Given the description of an element on the screen output the (x, y) to click on. 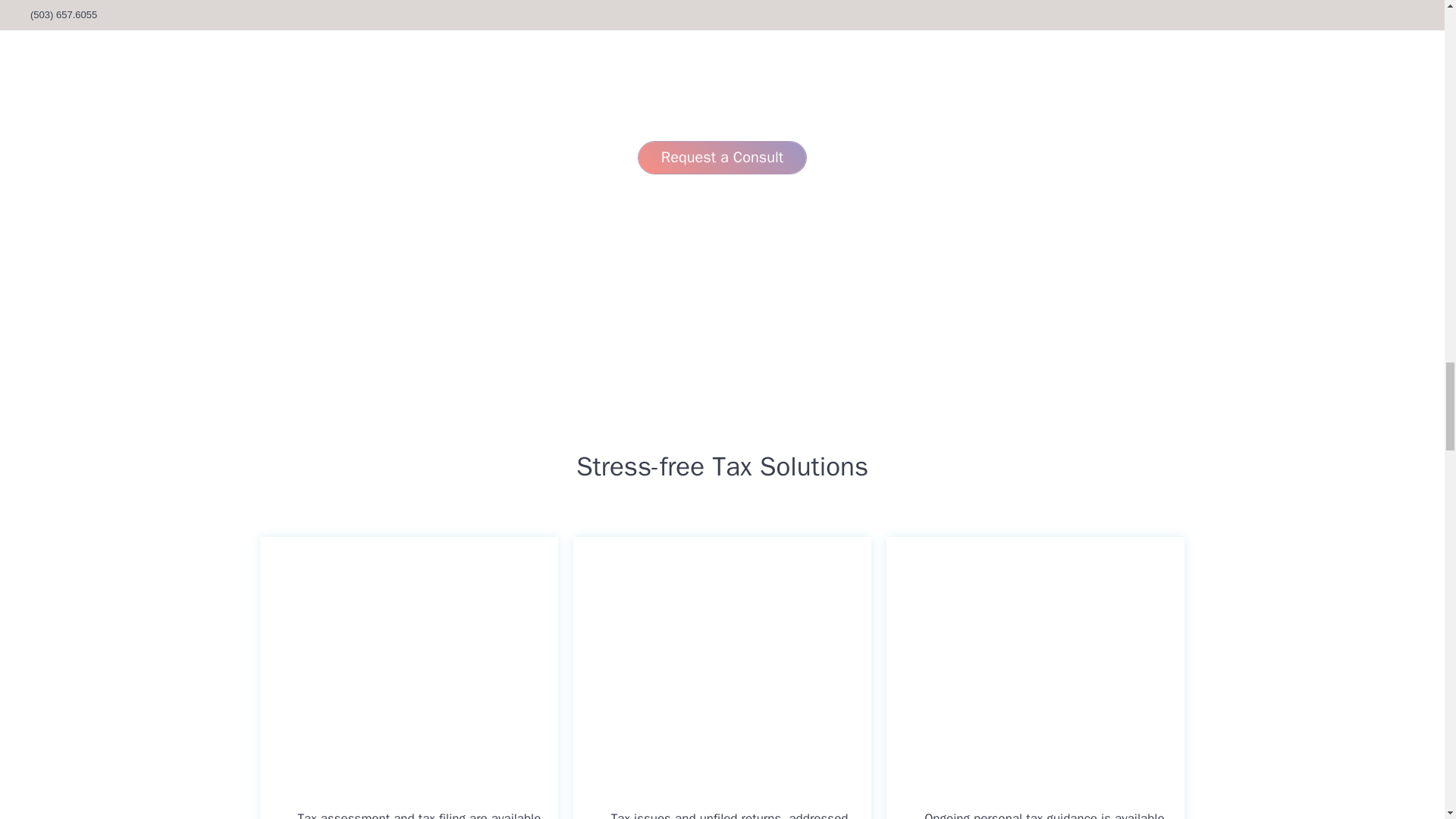
Testimonial Slide 1 (703, 97)
Testimonial Slide 3 (739, 97)
Request a Consult (721, 157)
Testimonial Slide 2 (721, 97)
